Given the description of an element on the screen output the (x, y) to click on. 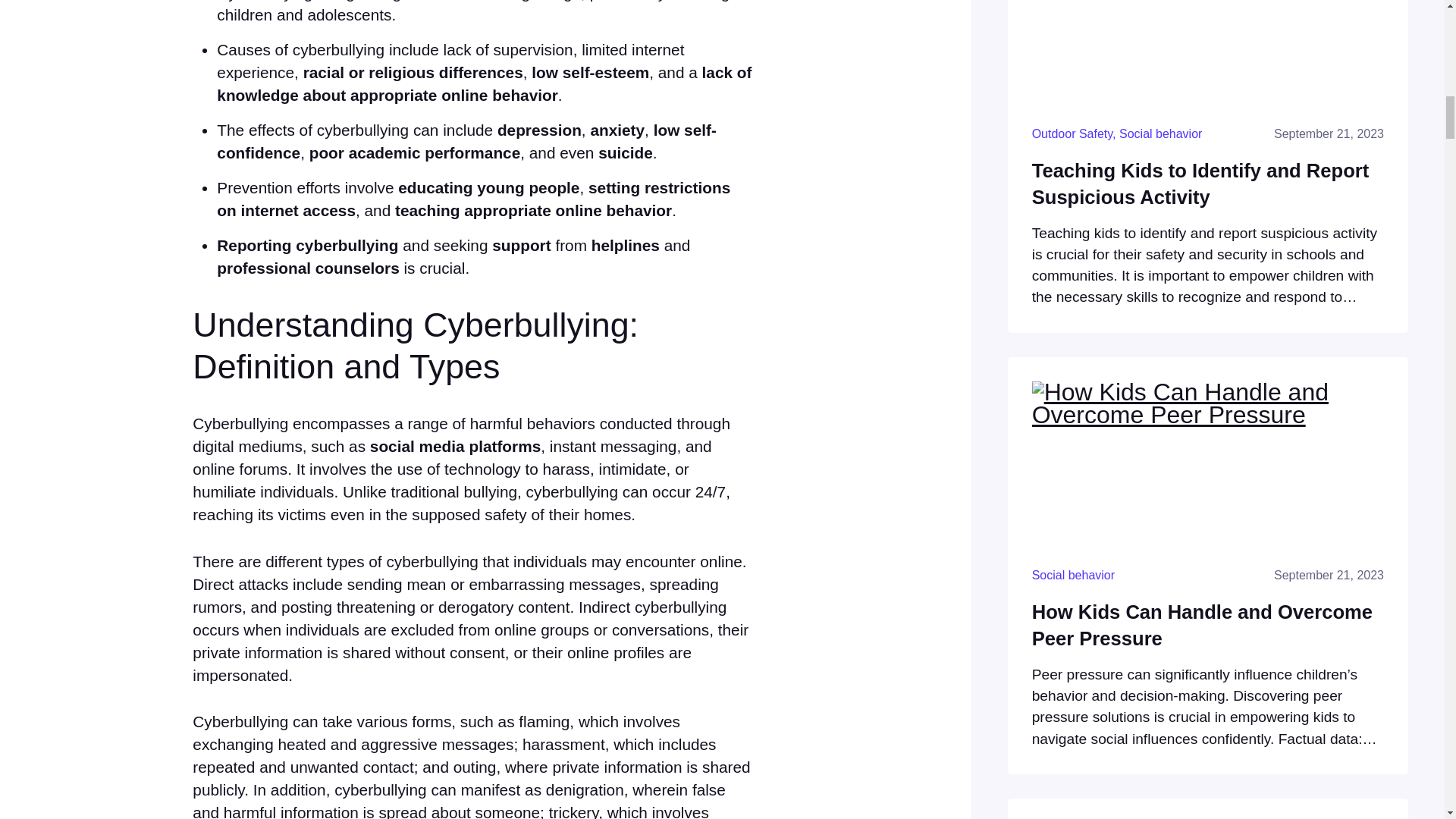
Outdoor Safety (1072, 133)
How Kids Can Handle and Overcome Peer Pressure (1208, 624)
Social behavior (1160, 133)
Teaching Kids to Identify and Report Suspicious Activity (1208, 184)
Social behavior (1073, 574)
